Given the description of an element on the screen output the (x, y) to click on. 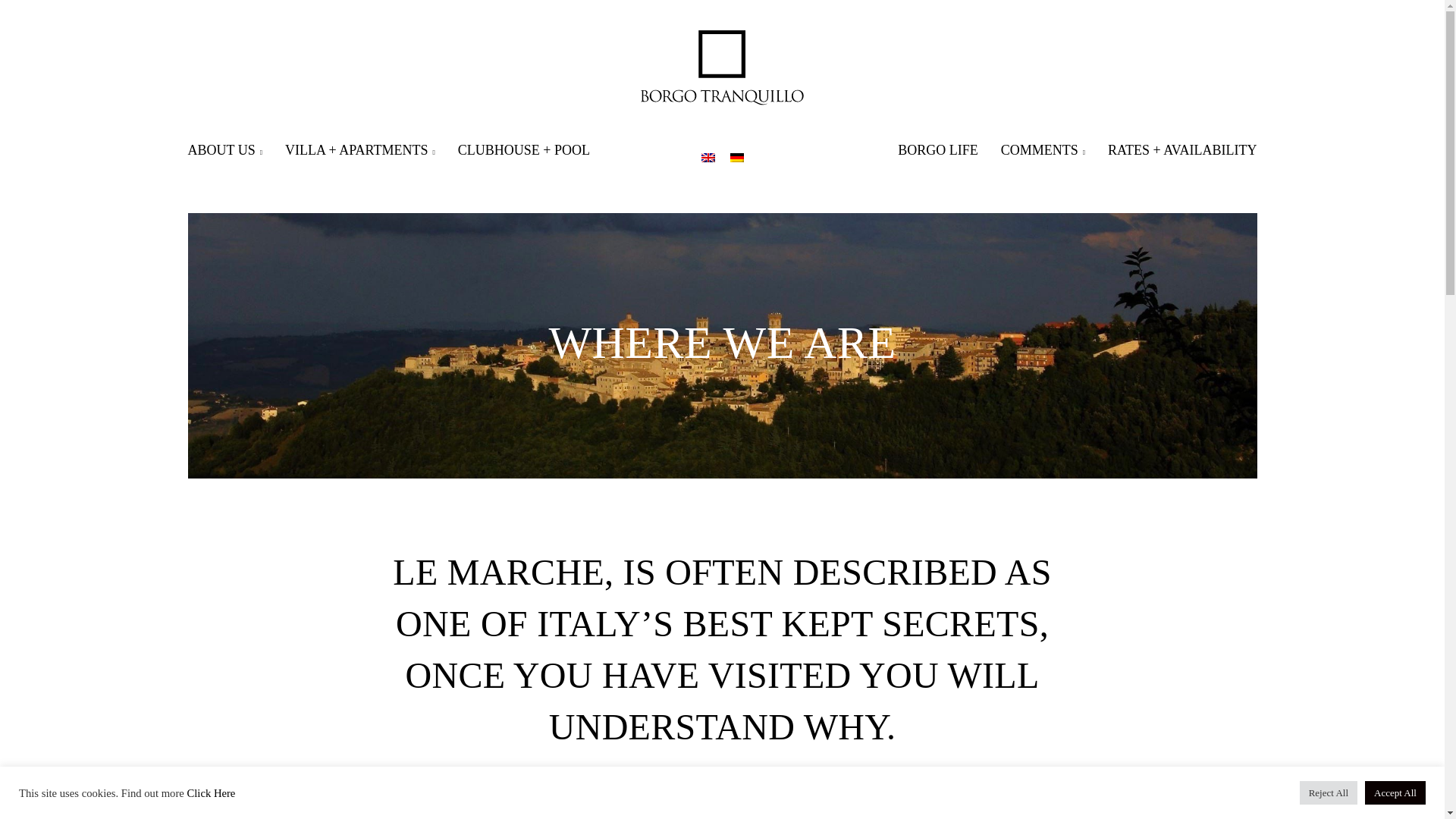
ABOUT US (224, 150)
BORGO LIFE (938, 150)
COMMENTS (1042, 150)
